Given the description of an element on the screen output the (x, y) to click on. 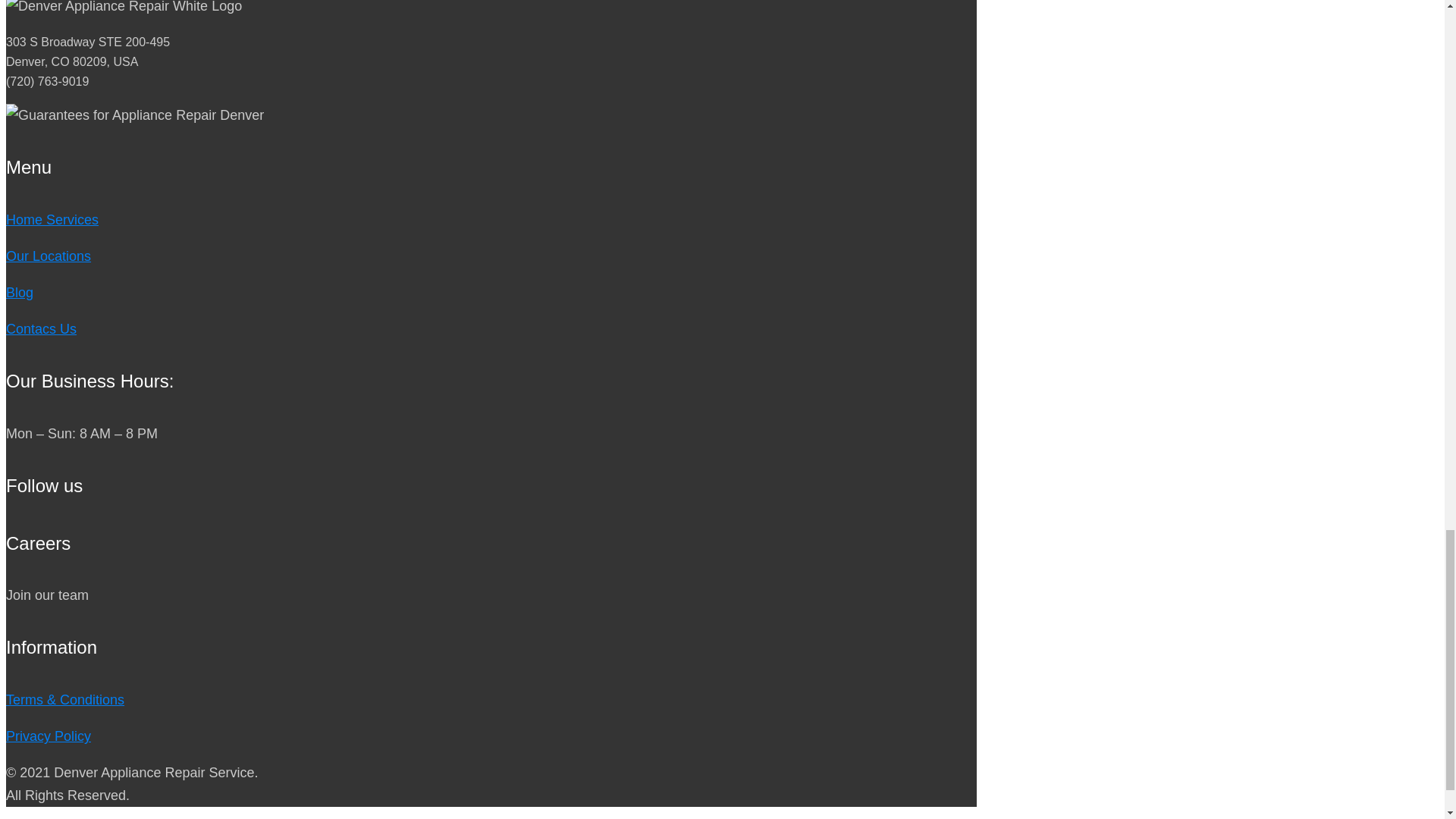
Contacs Us (41, 328)
Blog (19, 292)
Our Locations (47, 255)
Home Services (52, 219)
